Given the description of an element on the screen output the (x, y) to click on. 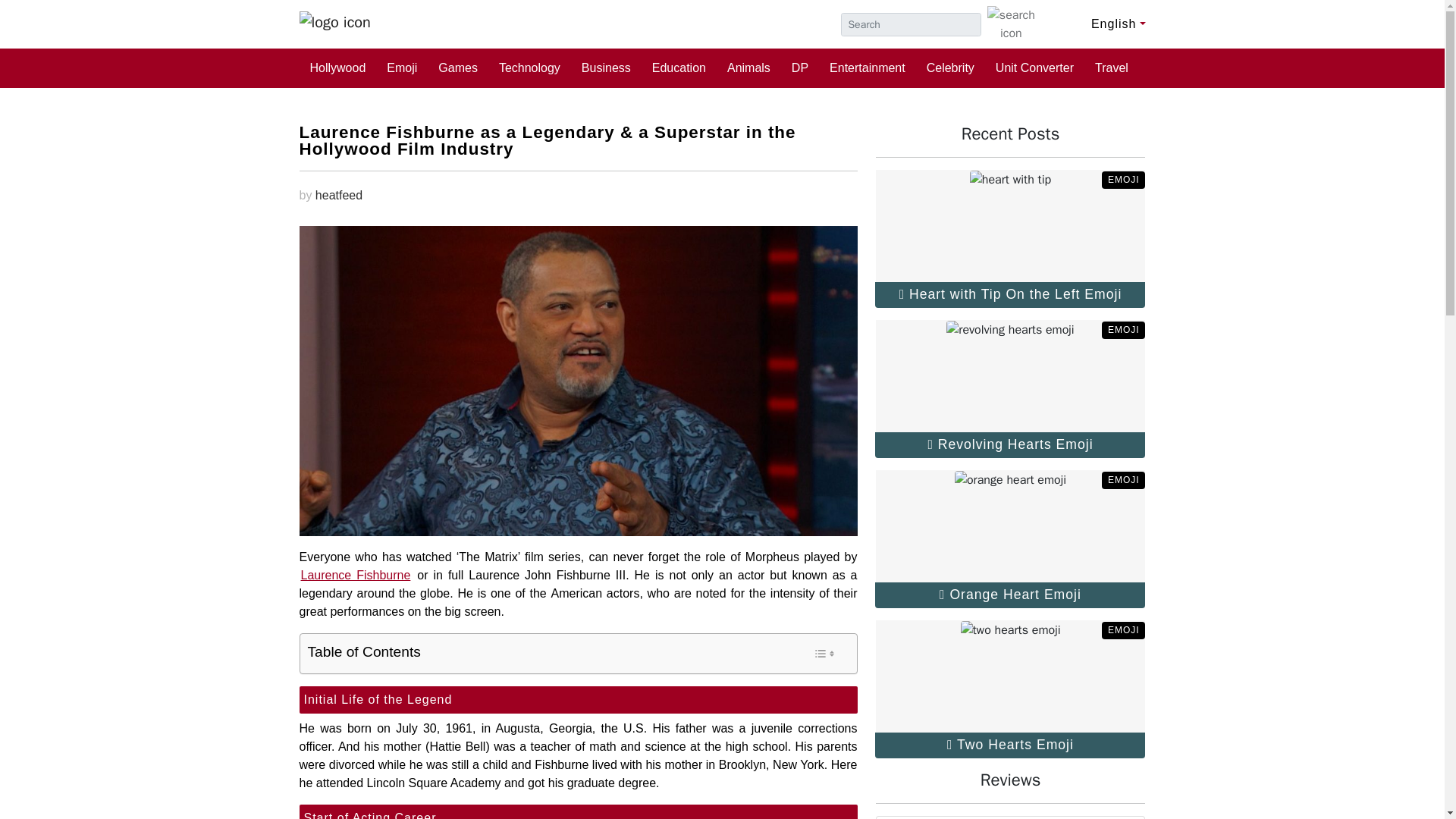
Business (606, 67)
Animals (748, 67)
Emoji (401, 67)
Technology (528, 67)
DP (799, 67)
Entertainment (866, 67)
Games (457, 67)
Education (679, 67)
Hollywood (336, 67)
English (1105, 23)
